Given the description of an element on the screen output the (x, y) to click on. 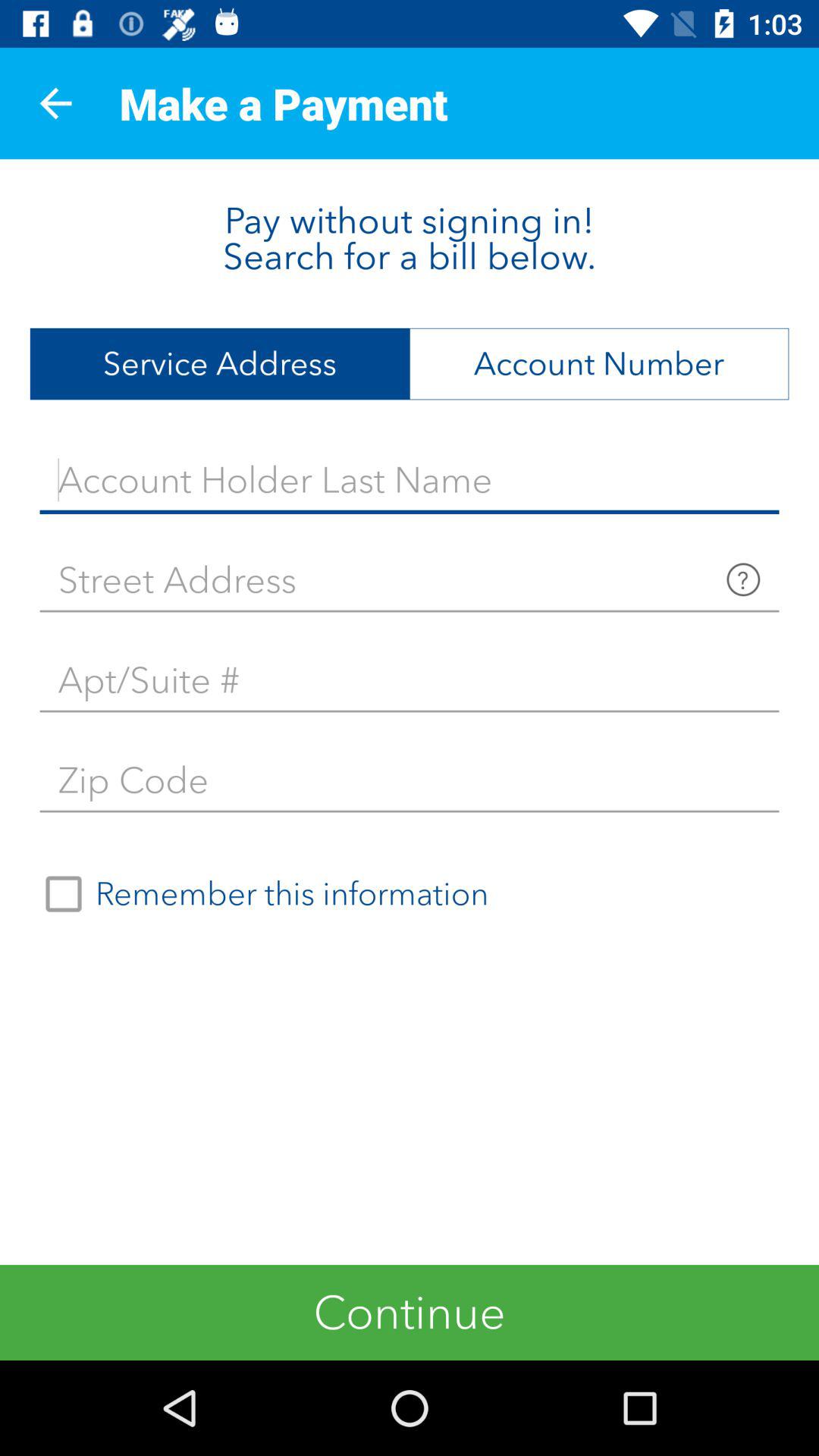
open the item above the pay without signing (55, 103)
